Given the description of an element on the screen output the (x, y) to click on. 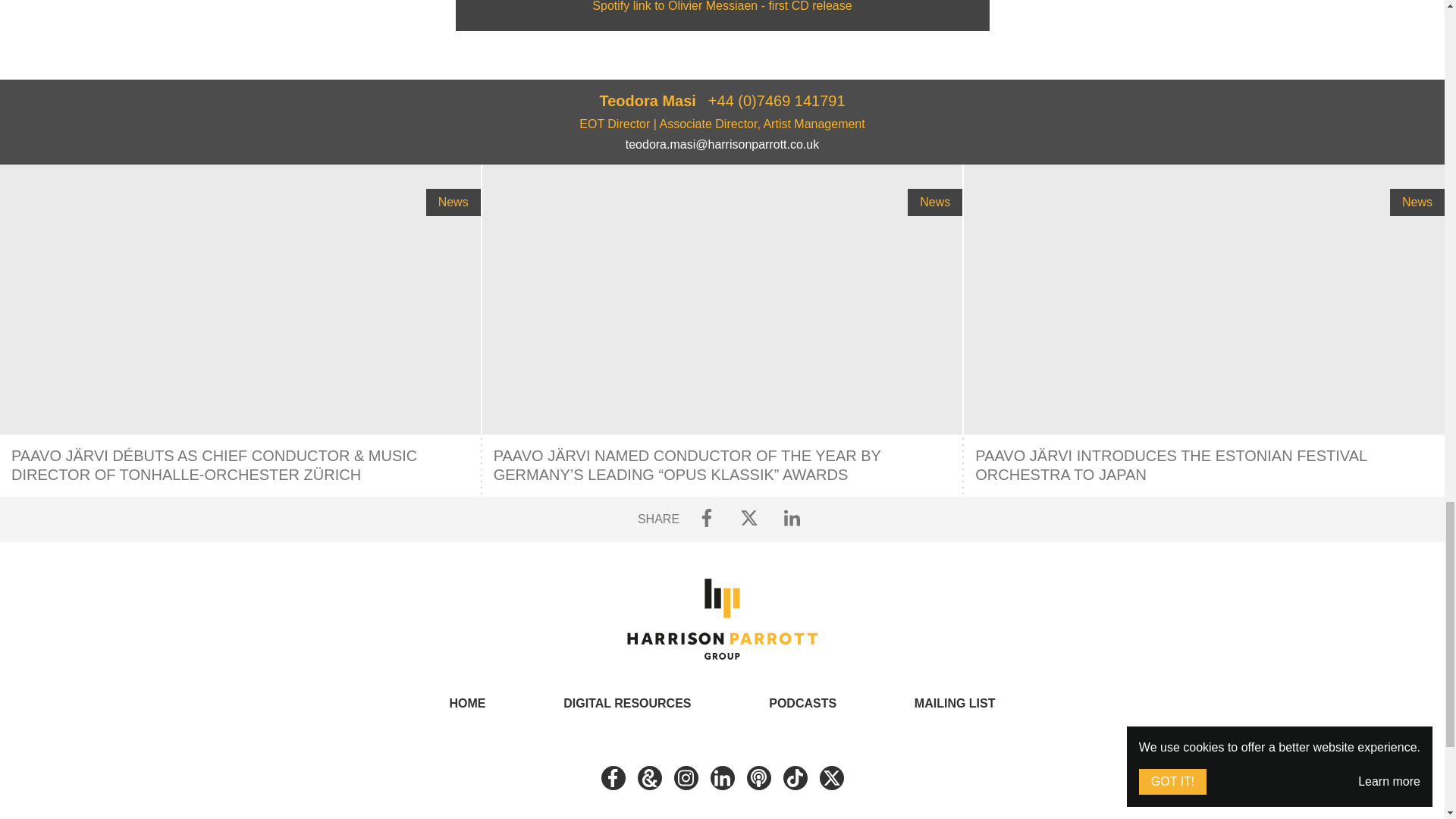
Google Arts and Culture (649, 777)
Podcast (757, 777)
HOME (466, 703)
FACEBOOK (611, 777)
PODCAST (757, 777)
Instagram (684, 777)
PODCASTS (801, 703)
DIGITAL RESOURCES (626, 703)
LINKEDIN (721, 777)
Linkedin (721, 777)
Spotify link to Olivier Messiaen - first CD release (721, 6)
INSTAGRAM (684, 777)
TikTok (794, 777)
Twitter (830, 777)
GOOGLE ARTS AND CULTURE (649, 777)
